Given the description of an element on the screen output the (x, y) to click on. 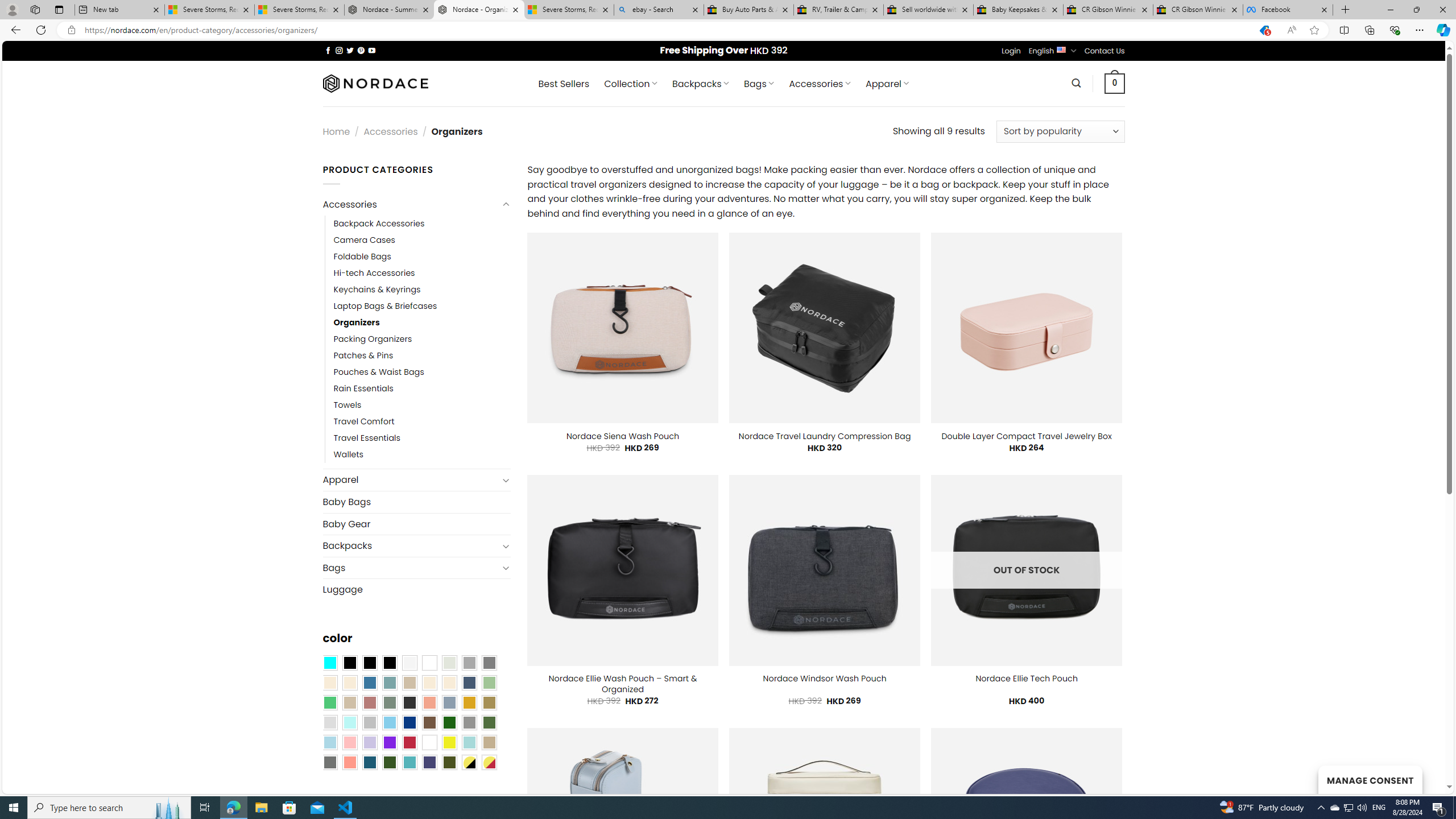
Sage (389, 702)
Contact Us (1104, 50)
Patches & Pins (363, 355)
Restore (1416, 9)
English (1061, 49)
Light Blue (329, 741)
 Best Sellers (563, 83)
Mint (349, 721)
Gold (468, 702)
MANAGE CONSENT (1369, 779)
Collections (1369, 29)
Packing Organizers (422, 339)
Hi-tech Accessories (373, 272)
Pouches & Waist Bags (422, 371)
Purple Navy (429, 762)
